Given the description of an element on the screen output the (x, y) to click on. 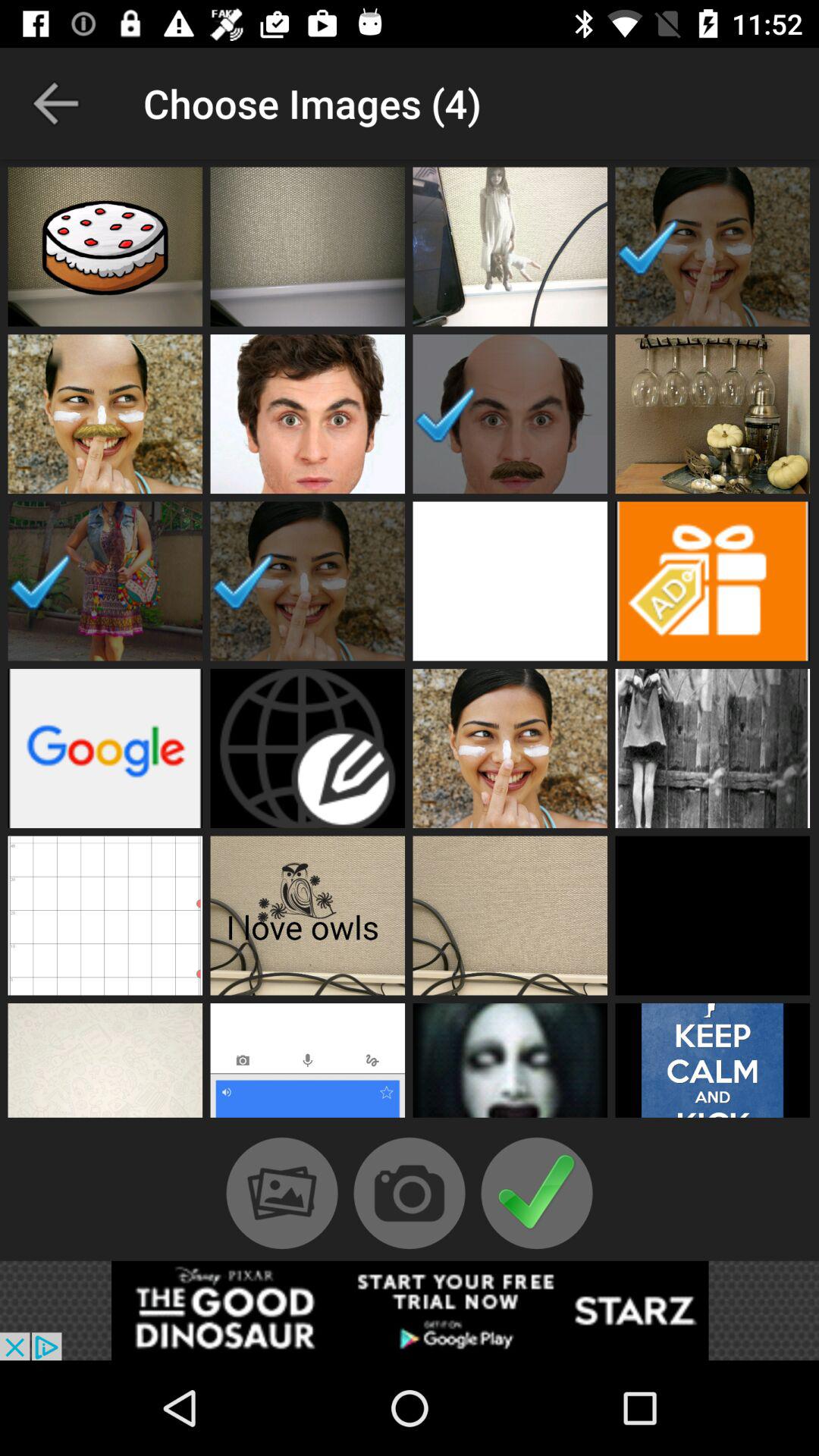
open profile (307, 915)
